Given the description of an element on the screen output the (x, y) to click on. 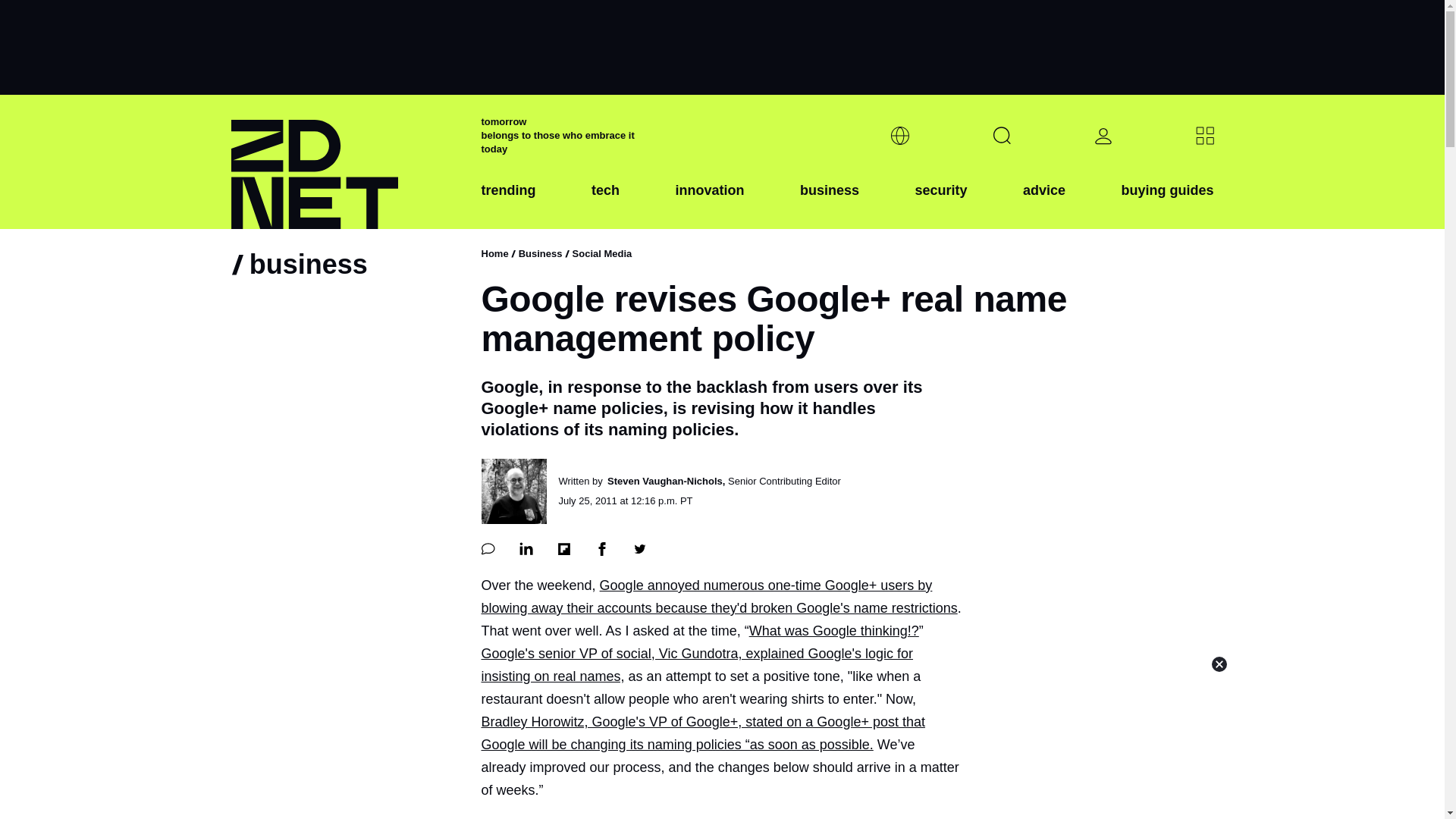
tech (605, 202)
trending (507, 202)
ZDNET (346, 162)
